Given the description of an element on the screen output the (x, y) to click on. 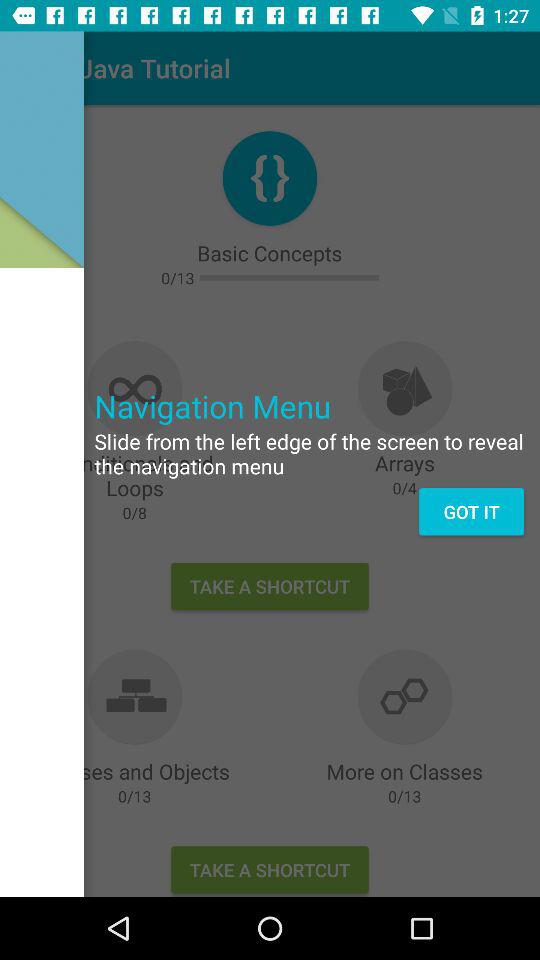
launch the got it item (471, 511)
